Given the description of an element on the screen output the (x, y) to click on. 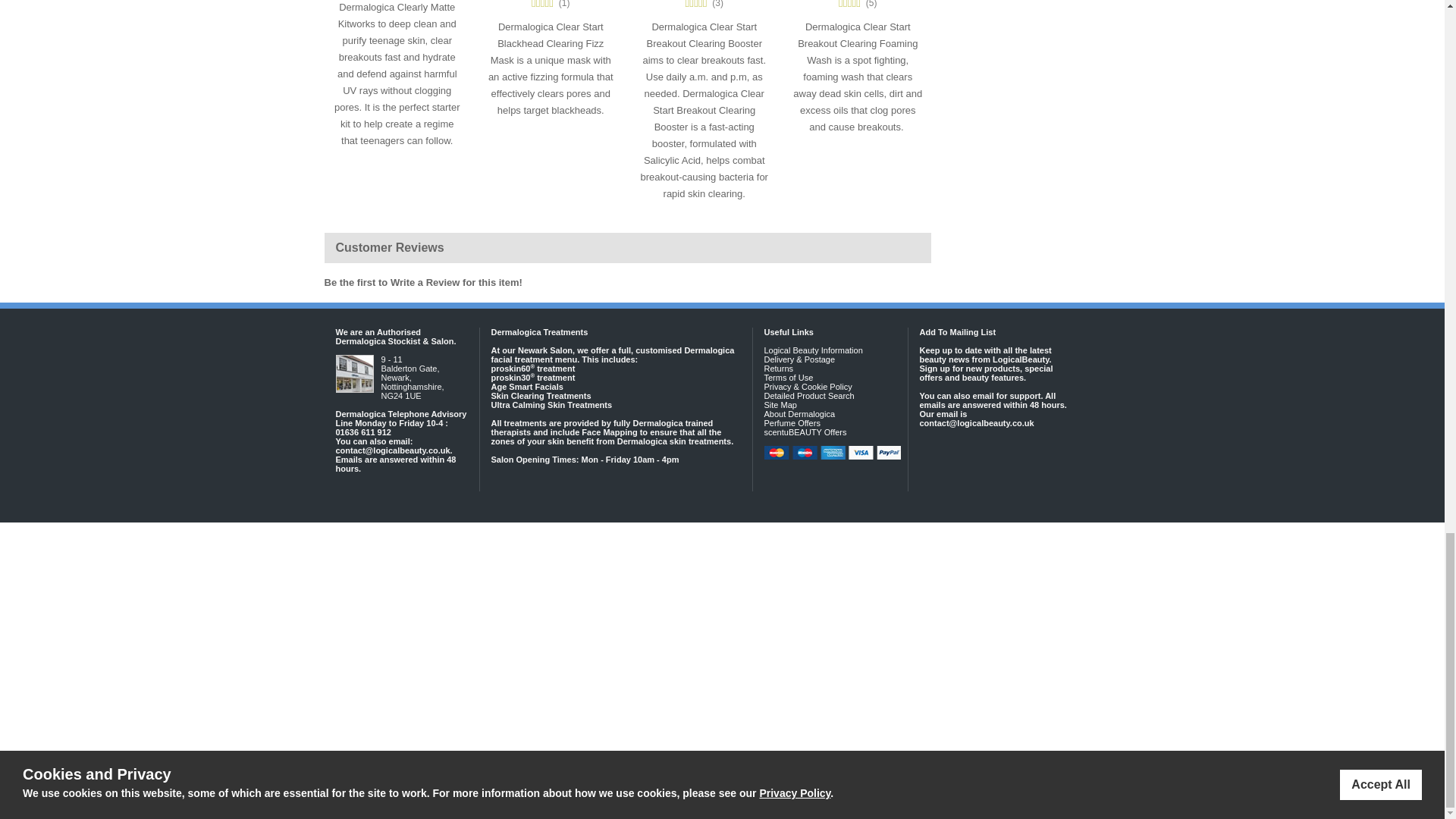
Write a Review (425, 282)
